Given the description of an element on the screen output the (x, y) to click on. 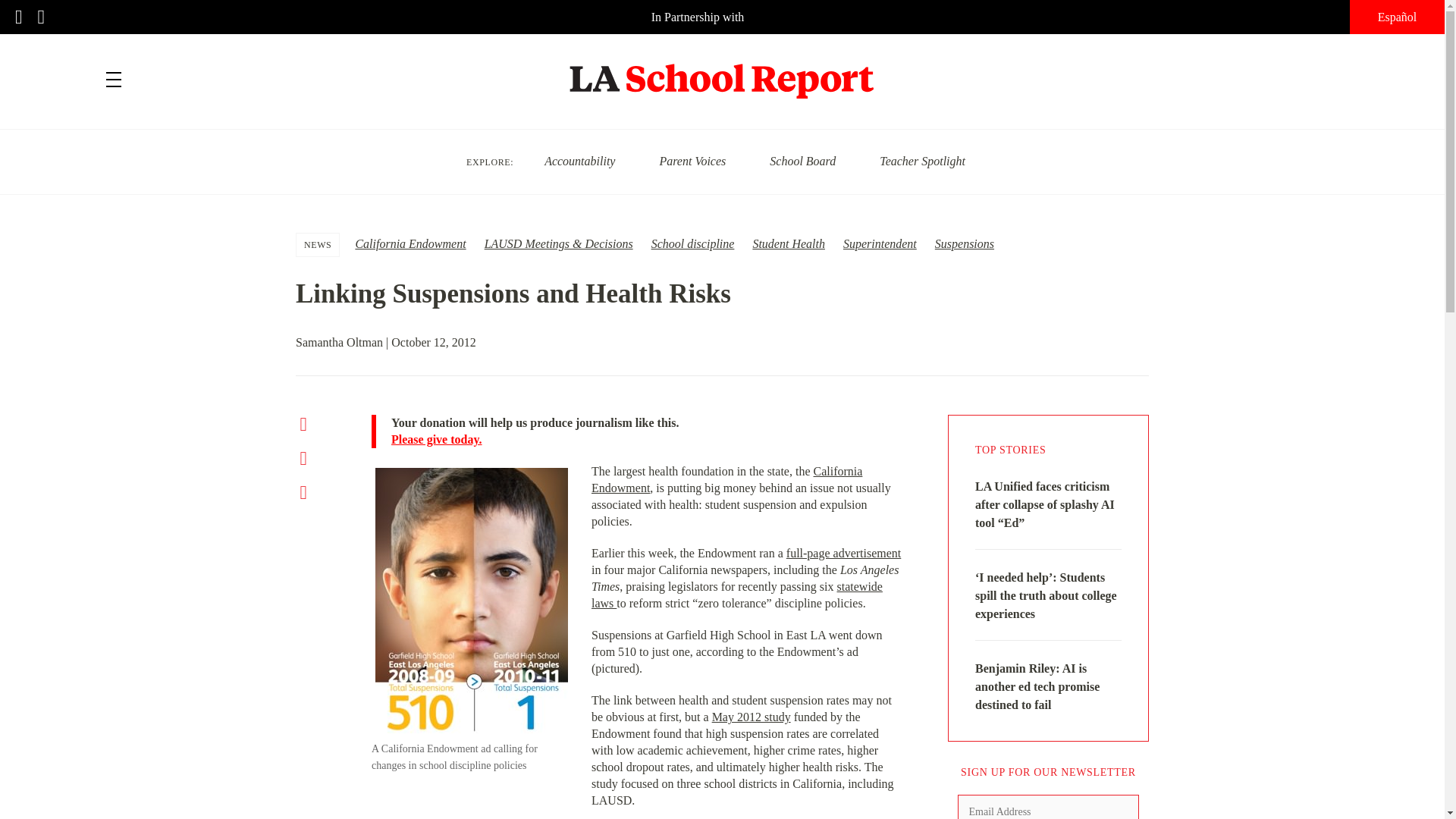
Teacher Spotlight (922, 160)
LA School Report (721, 71)
Parent Voices (692, 160)
Suspensions (964, 243)
School discipline (692, 243)
Student Health (788, 243)
Accountability (579, 160)
California Endowment (410, 243)
School Board (802, 160)
Superintendent (880, 243)
NEWS (317, 244)
In Partnership with 74 (721, 16)
